Given the description of an element on the screen output the (x, y) to click on. 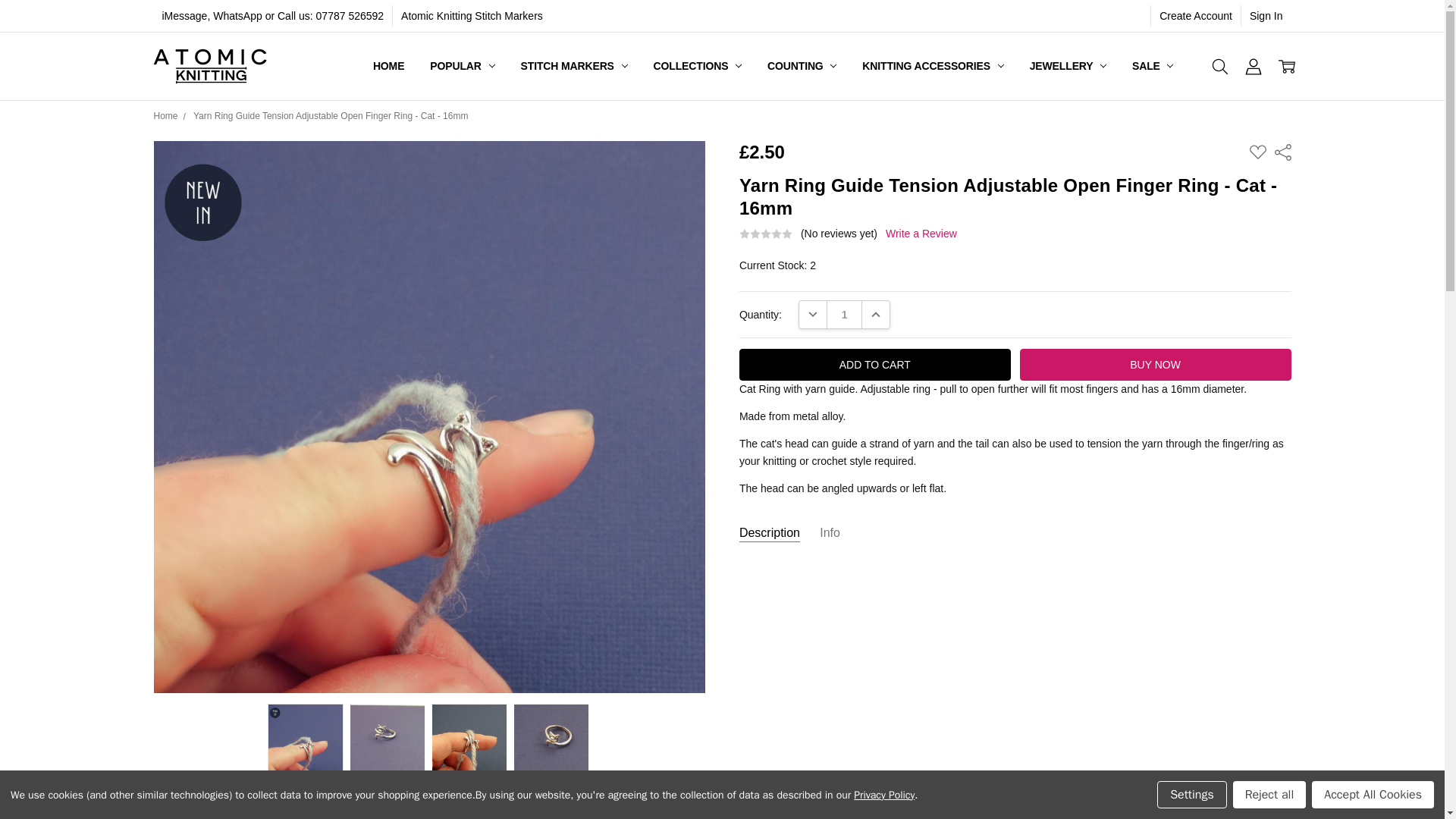
Sign In (1266, 15)
Create Account (1195, 15)
iMessage, WhatsApp or Call us: 07787 526592 (271, 15)
1 (844, 314)
Add to Cart (874, 364)
STITCH MARKERS (574, 65)
Buy Now (1155, 364)
Atomic Knitting Stitch Markers (472, 15)
POPULAR (461, 65)
Atomic Knitting (209, 66)
